Given the description of an element on the screen output the (x, y) to click on. 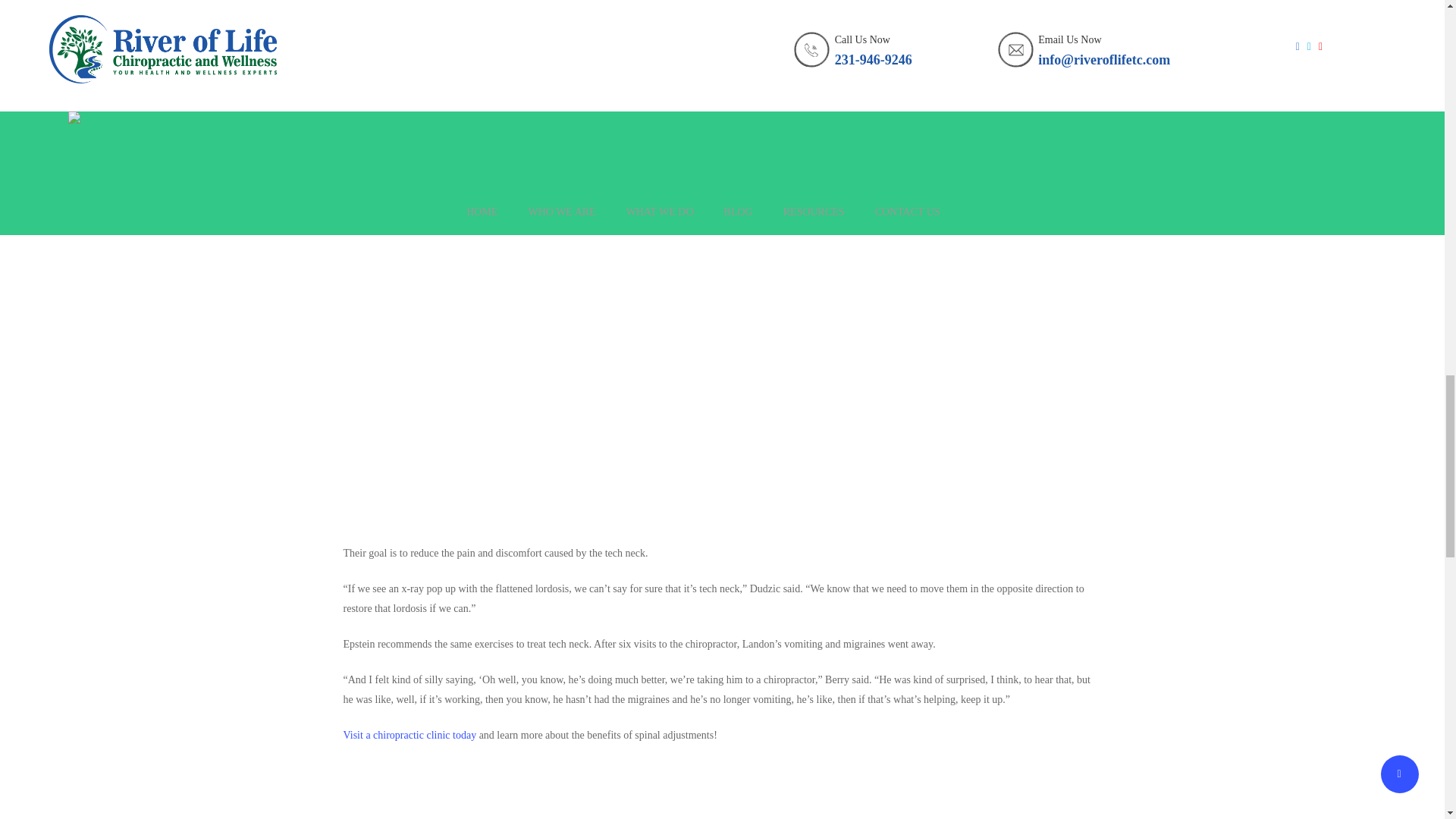
Chiropractors can help treat (401, 153)
Visit a chiropractic clinic today (409, 735)
